Given the description of an element on the screen output the (x, y) to click on. 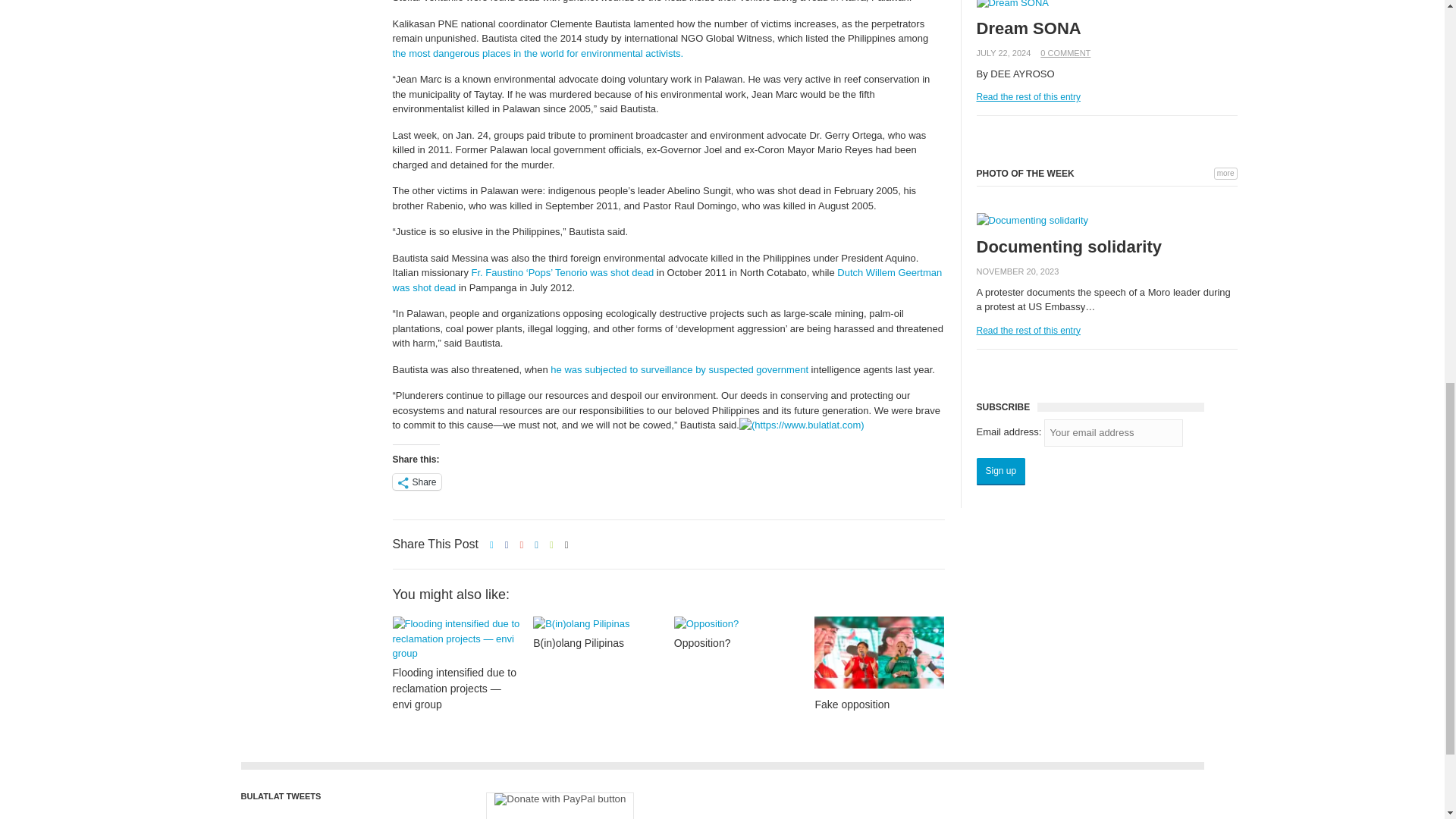
PayPal - The safer, easier way to pay online! (559, 805)
Sign up (1001, 471)
This story is from Bulatlat.com (801, 425)
